Given the description of an element on the screen output the (x, y) to click on. 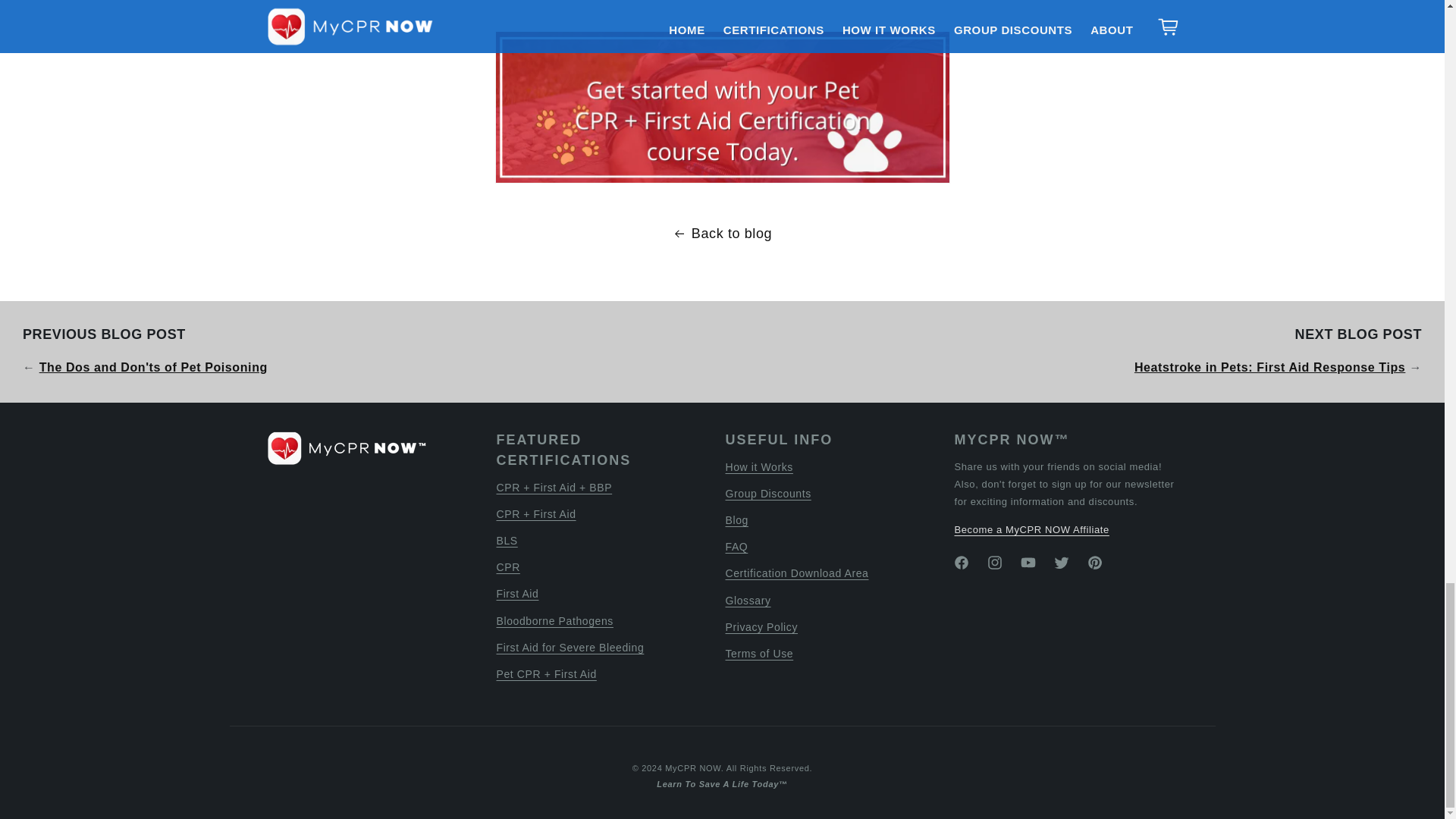
First Aid for Severe Bleeding (569, 647)
First Aid (517, 593)
The Dos and Don'ts of Pet Poisoning (153, 367)
Bloodborne Pathogens (554, 621)
Heatstroke in Pets: First Aid Response Tips (1269, 367)
